Given the description of an element on the screen output the (x, y) to click on. 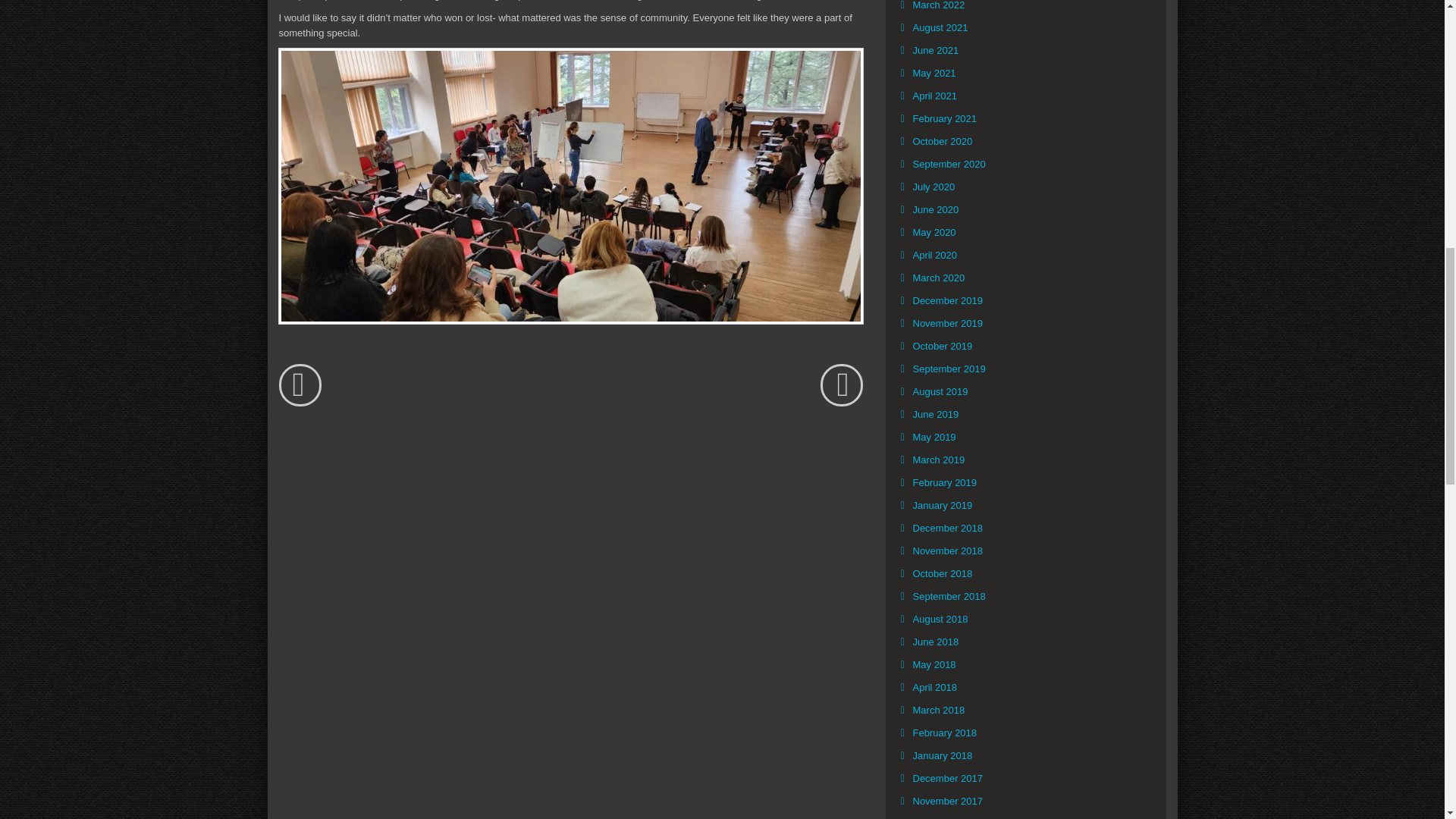
October 2020 (941, 141)
August 2021 (939, 28)
June 2020 (935, 209)
July 2020 (933, 186)
March 2022 (938, 6)
September 2020 (948, 164)
April 2020 (934, 255)
February 2021 (943, 118)
May 2021 (933, 73)
May 2020 (933, 232)
